Given the description of an element on the screen output the (x, y) to click on. 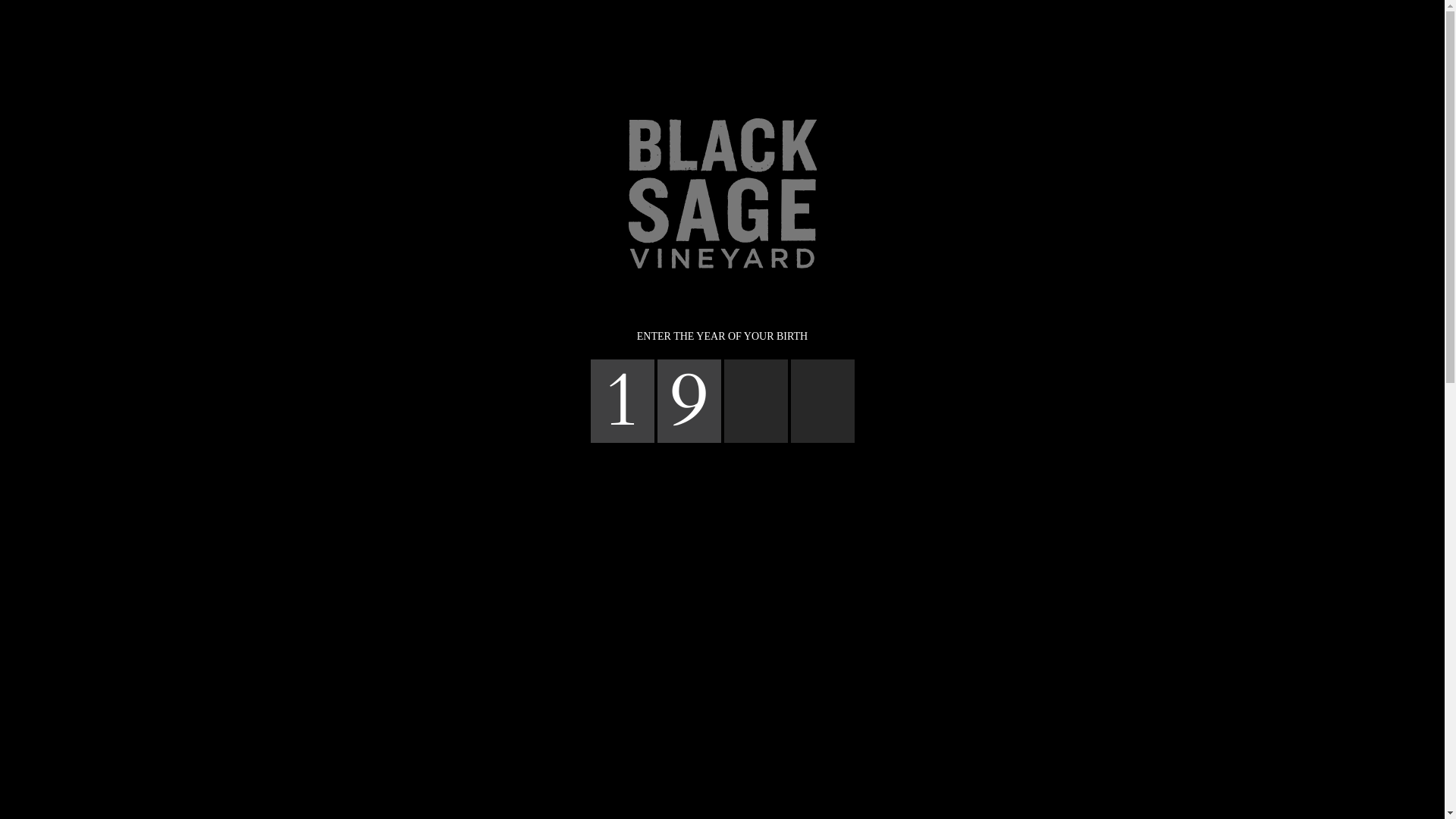
CONTACT Element type: text (816, 19)
BUY NOW Element type: text (961, 19)
WINES Element type: text (661, 19)
AWARDS Element type: text (887, 19)
ABOUT Element type: text (600, 19)
WINEMAKER Element type: text (736, 19)
